Given the description of an element on the screen output the (x, y) to click on. 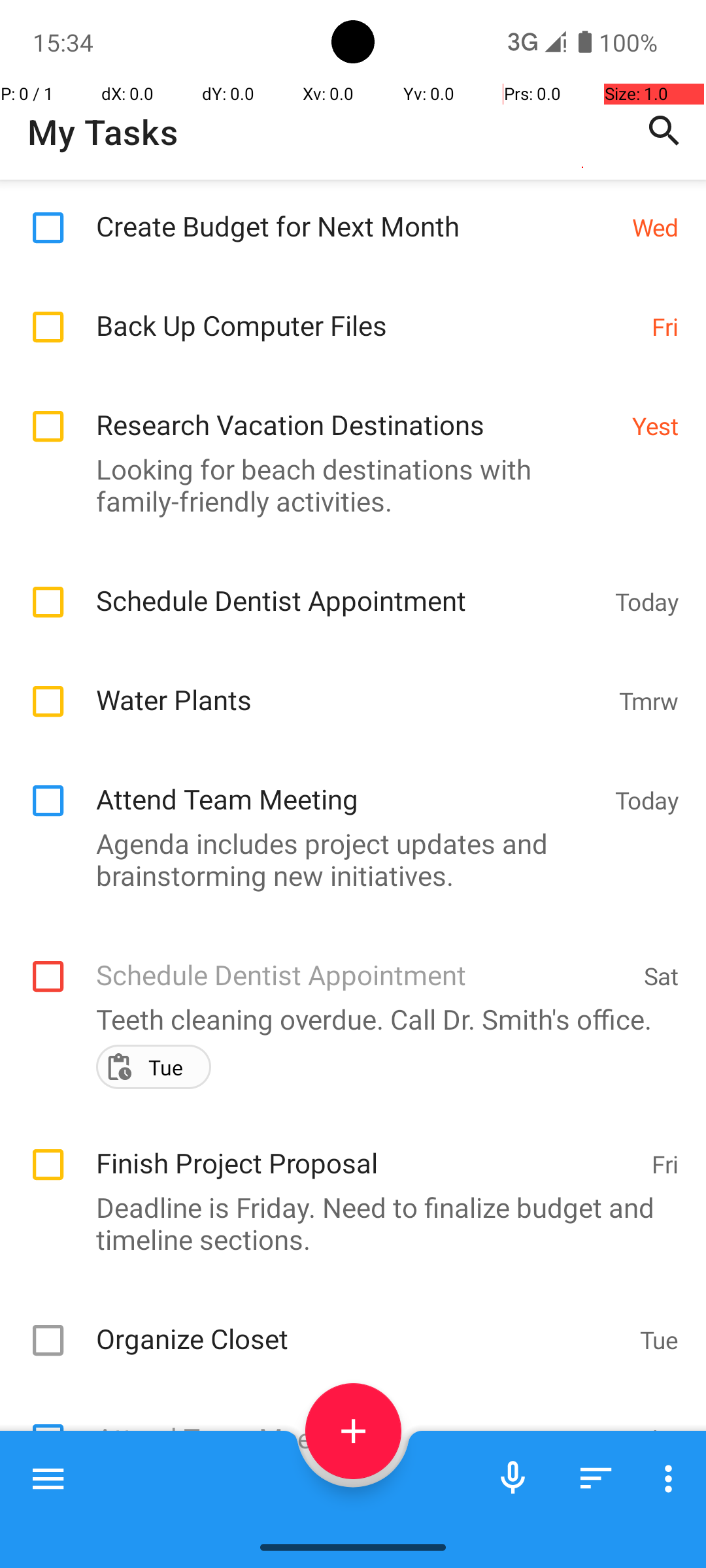
Create Budget for Next Month Element type: android.widget.TextView (357, 211)
Back Up Computer Files Element type: android.widget.TextView (367, 310)
Fri Element type: android.widget.TextView (665, 325)
Research Vacation Destinations Element type: android.widget.TextView (357, 410)
Looking for beach destinations with family-friendly activities. Element type: android.widget.TextView (346, 484)
Yest Element type: android.widget.TextView (655, 425)
Schedule Dentist Appointment Element type: android.widget.TextView (348, 586)
Water Plants Element type: android.widget.TextView (350, 685)
Tmrw Element type: android.widget.TextView (648, 700)
Attend Team Meeting Element type: android.widget.TextView (348, 784)
Agenda includes project updates and brainstorming new initiatives. Element type: android.widget.TextView (346, 858)
Teeth cleaning overdue. Call Dr. Smith's office. Element type: android.widget.TextView (346, 1018)
Sat Element type: android.widget.TextView (661, 975)
Finish Project Proposal Element type: android.widget.TextView (367, 1148)
Deadline is Friday. Need to finalize budget and timeline sections. Element type: android.widget.TextView (346, 1222)
Organize Closet Element type: android.widget.TextView (361, 1324)
